Given the description of an element on the screen output the (x, y) to click on. 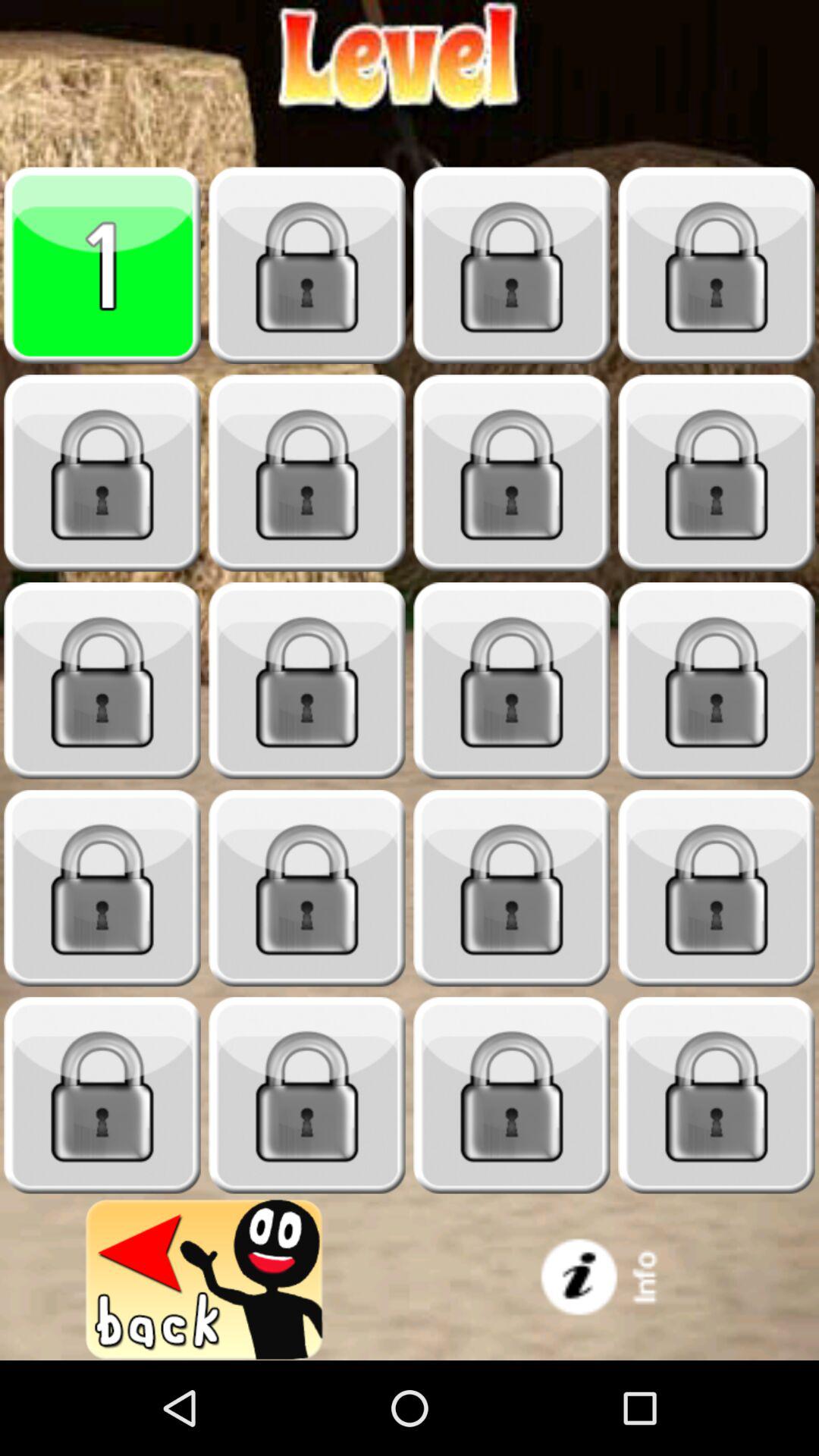
long button (716, 1094)
